Given the description of an element on the screen output the (x, y) to click on. 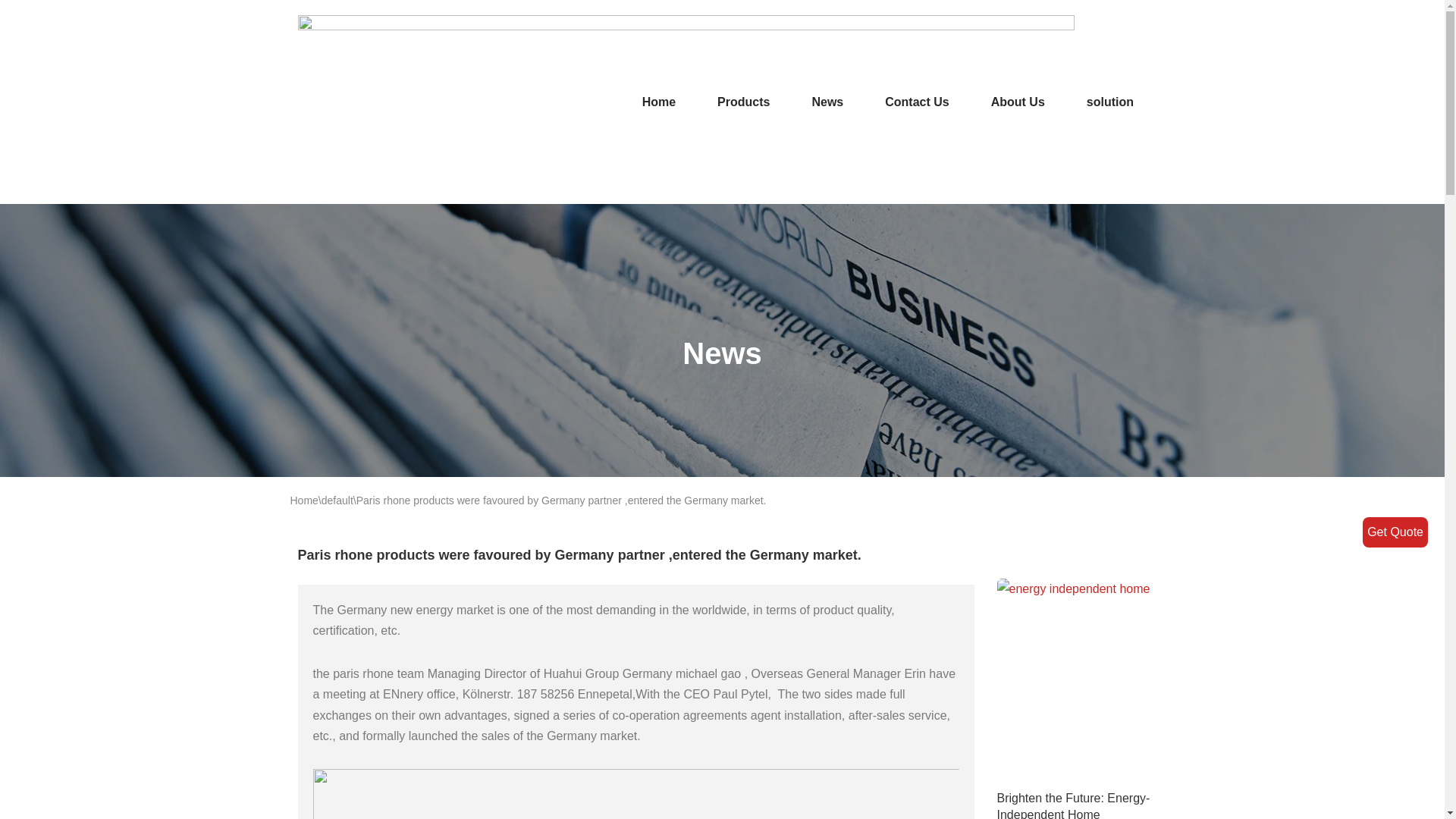
default (337, 500)
Get Quote (1395, 531)
Home (303, 500)
Home (658, 102)
solution (1110, 102)
Contact Us (917, 102)
About Us (1018, 102)
Skip to content (11, 31)
Products (743, 102)
Brighten the Future: Energy-Independent Home Essentials (1072, 805)
News (826, 102)
